Given the description of an element on the screen output the (x, y) to click on. 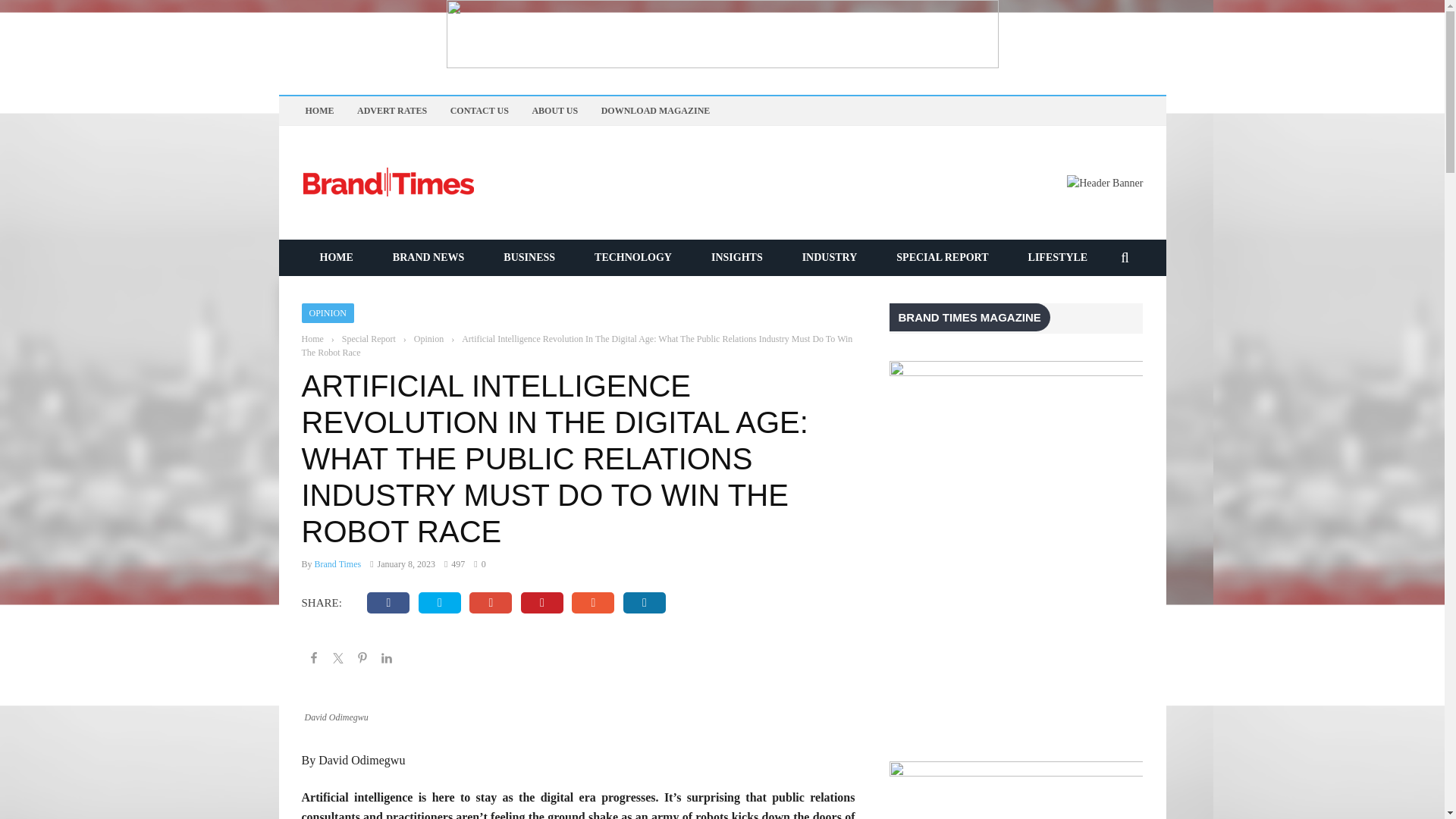
Share on LinkedIn (386, 660)
ADVERT RATES (391, 110)
Share on Facebook (313, 660)
DOWNLOAD MAGAZINE (655, 110)
Share on Pinterest (362, 660)
BRAND NEWS (428, 256)
HOME (336, 256)
BUSINESS (528, 256)
ABOUT US (554, 110)
HOME (318, 110)
CONTACT US (478, 110)
Share on Twitter (338, 660)
